Given the description of an element on the screen output the (x, y) to click on. 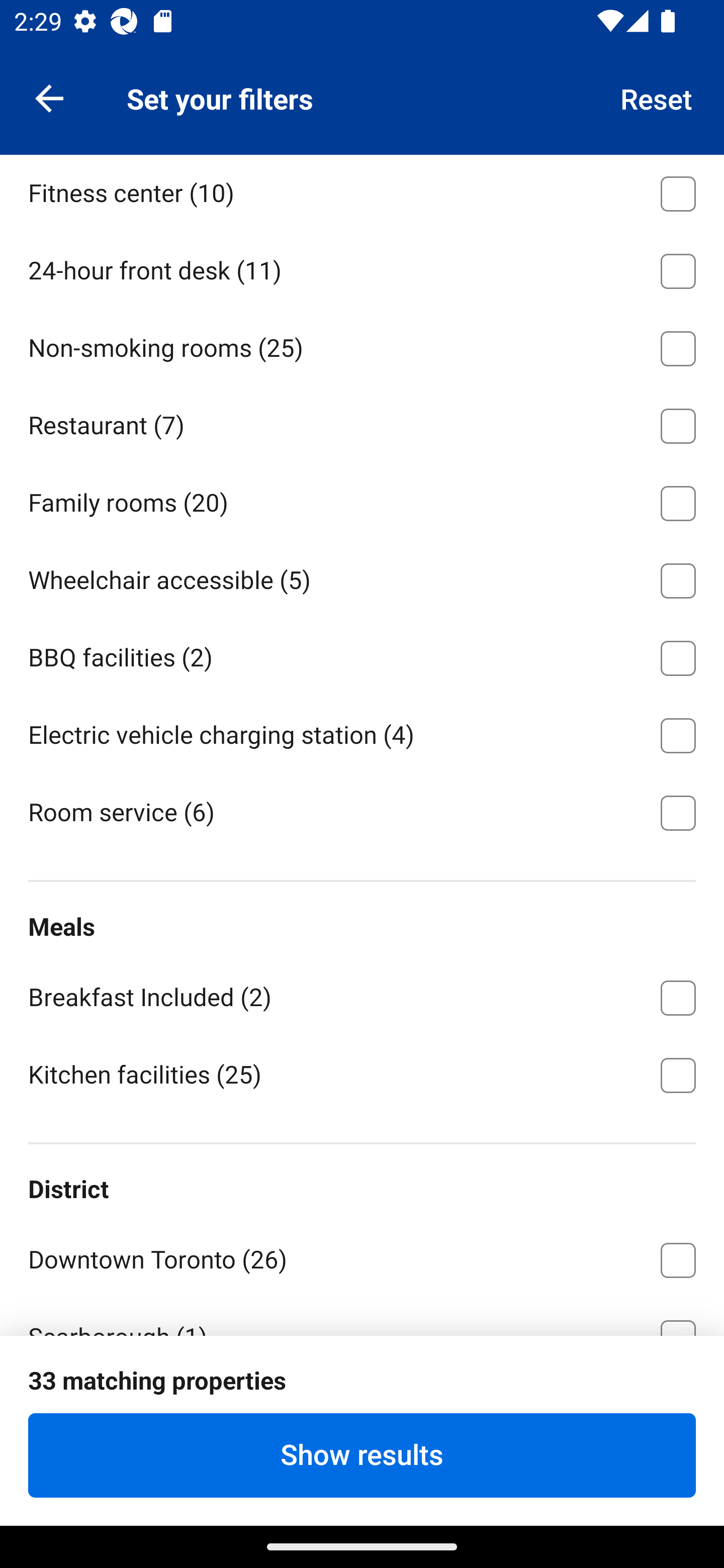
Navigate up (49, 97)
Reset (656, 97)
Spa ⁦(3) (361, 112)
Fitness center ⁦(10) (361, 191)
24-hour front desk ⁦(11) (361, 267)
Non-smoking rooms ⁦(25) (361, 345)
Restaurant ⁦(7) (361, 422)
Family rooms ⁦(20) (361, 499)
Wheelchair accessible ⁦(5) (361, 577)
BBQ facilities ⁦(2) (361, 654)
Electric vehicle charging station ⁦(4) (361, 732)
Room service ⁦(6) (361, 811)
Breakfast Included ⁦(2) (361, 994)
Kitchen facilities ⁦(25) (361, 1073)
Downtown Toronto ⁦(26) (361, 1256)
Show results (361, 1454)
